Given the description of an element on the screen output the (x, y) to click on. 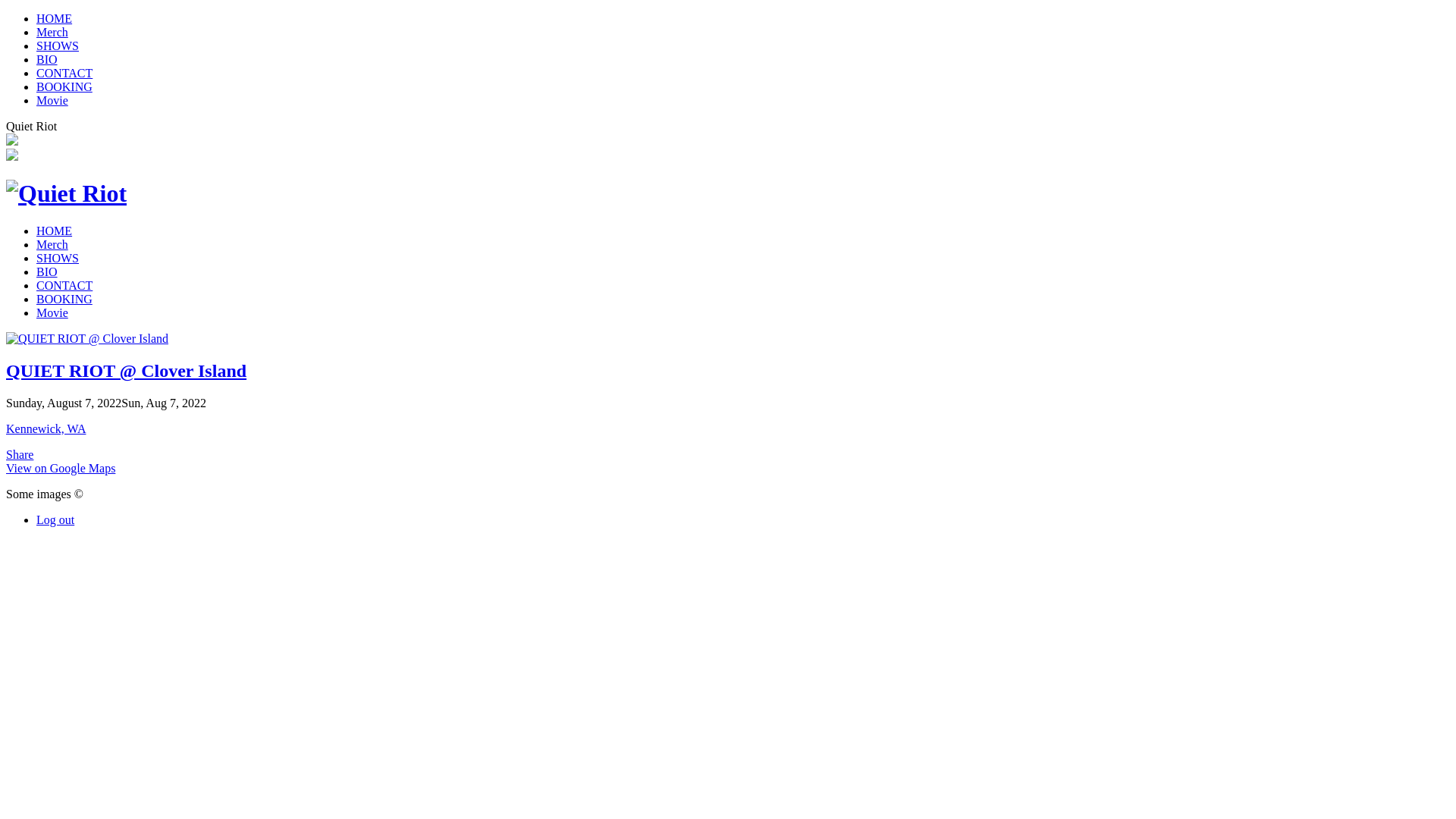
Movie Element type: text (52, 312)
BIO Element type: text (46, 59)
SHOWS Element type: text (57, 257)
BOOKING Element type: text (64, 86)
HOME Element type: text (54, 18)
Merch Element type: text (52, 244)
Merch Element type: text (52, 31)
BIO Element type: text (46, 271)
View on Google Maps Element type: text (60, 467)
QUIET RIOT @ Clover Island Element type: text (126, 370)
BOOKING Element type: text (64, 298)
Kennewick, WA Element type: text (45, 428)
QUIET RIOT @ Clover Island Element type: hover (87, 338)
Movie Element type: text (52, 100)
Log out Element type: text (55, 519)
CONTACT Element type: text (64, 285)
HOME Element type: text (54, 230)
Share Element type: text (19, 454)
SHOWS Element type: text (57, 45)
CONTACT Element type: text (64, 72)
